Given the description of an element on the screen output the (x, y) to click on. 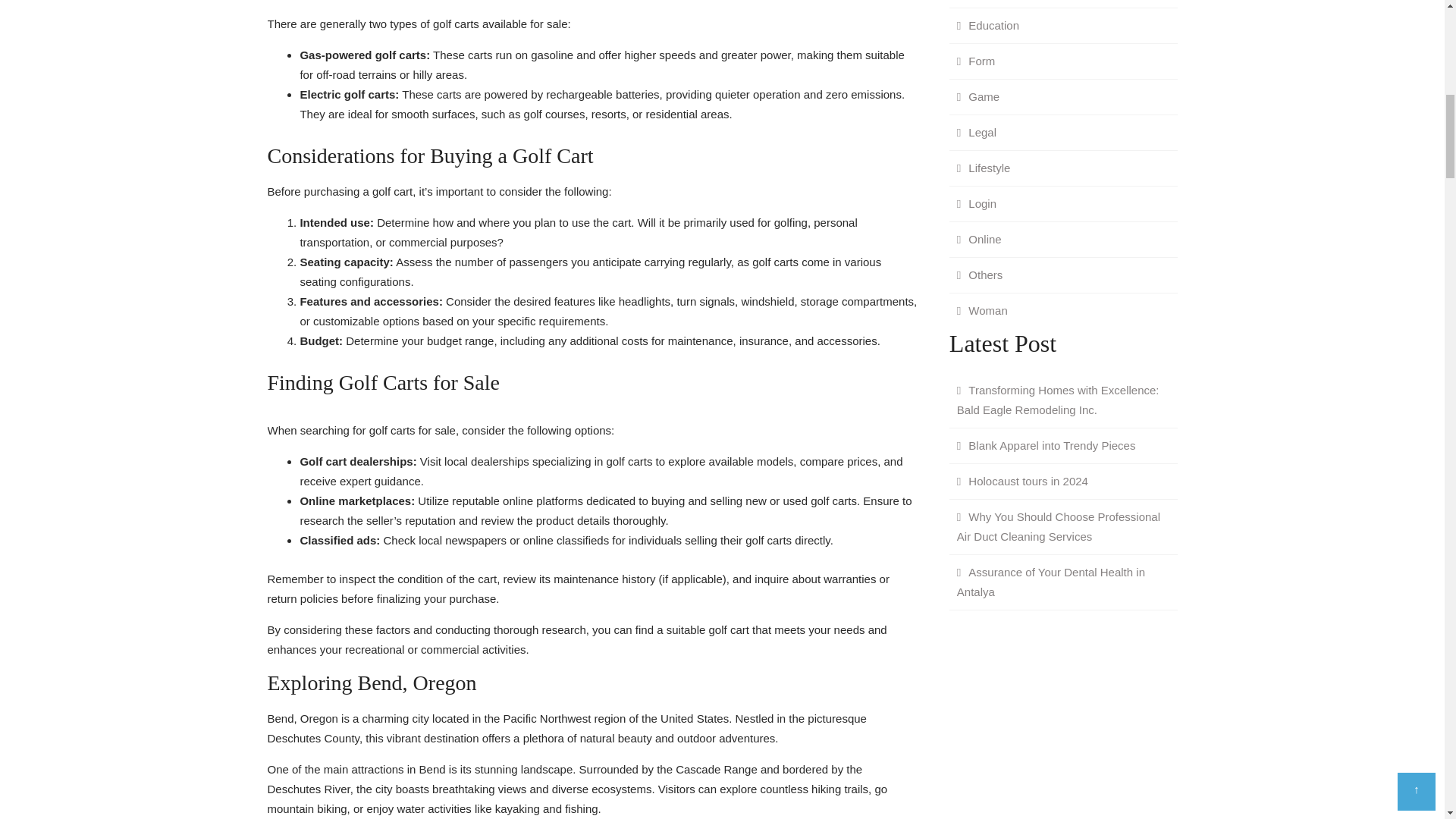
Legal (976, 132)
Login (976, 203)
Form (976, 61)
Decoration (989, 3)
Game (978, 95)
Online (979, 238)
Education (987, 24)
Lifestyle (983, 167)
